Given the description of an element on the screen output the (x, y) to click on. 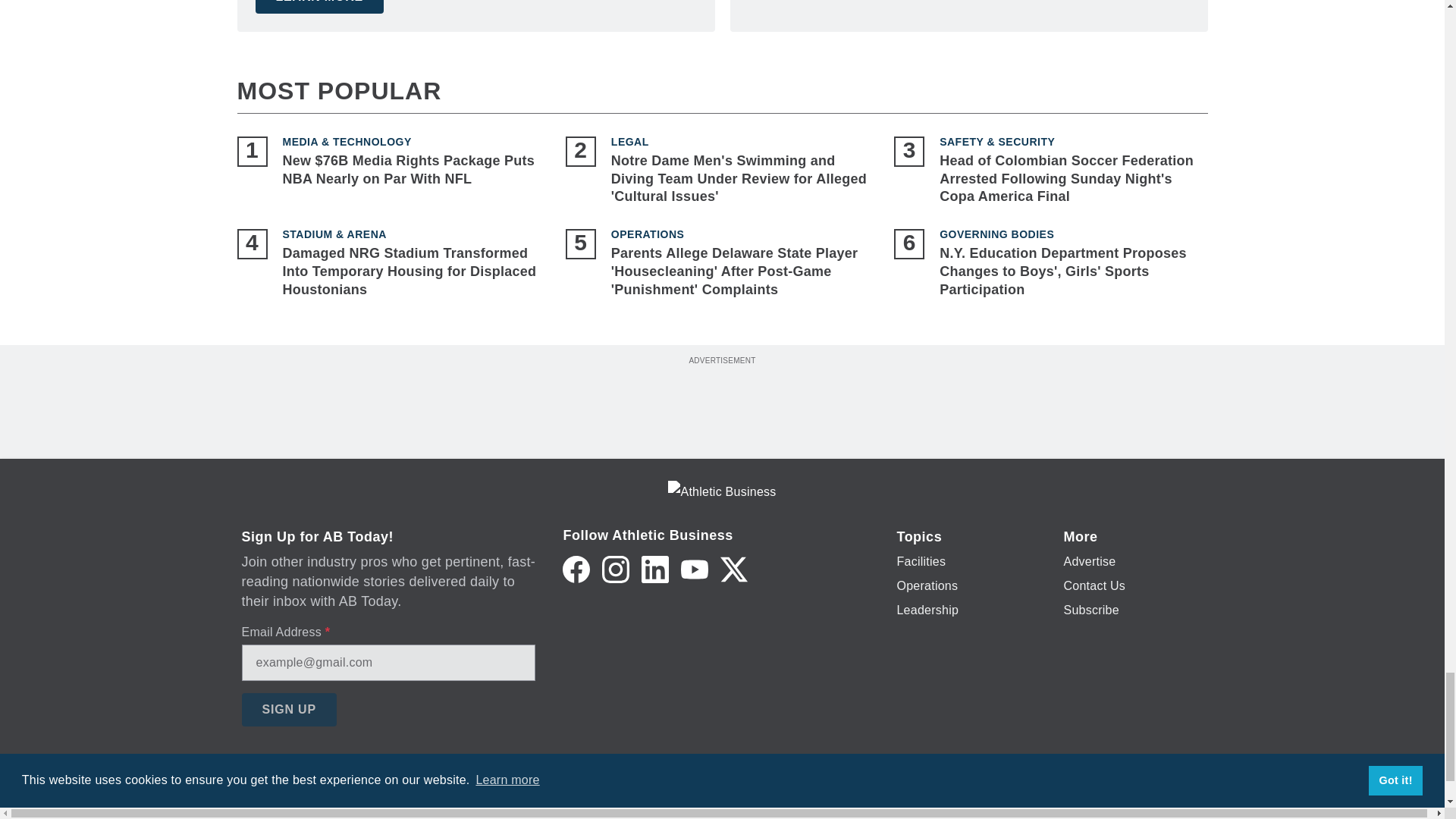
Instagram icon (615, 569)
LinkedIn icon (655, 569)
Facebook icon (575, 569)
